Given the description of an element on the screen output the (x, y) to click on. 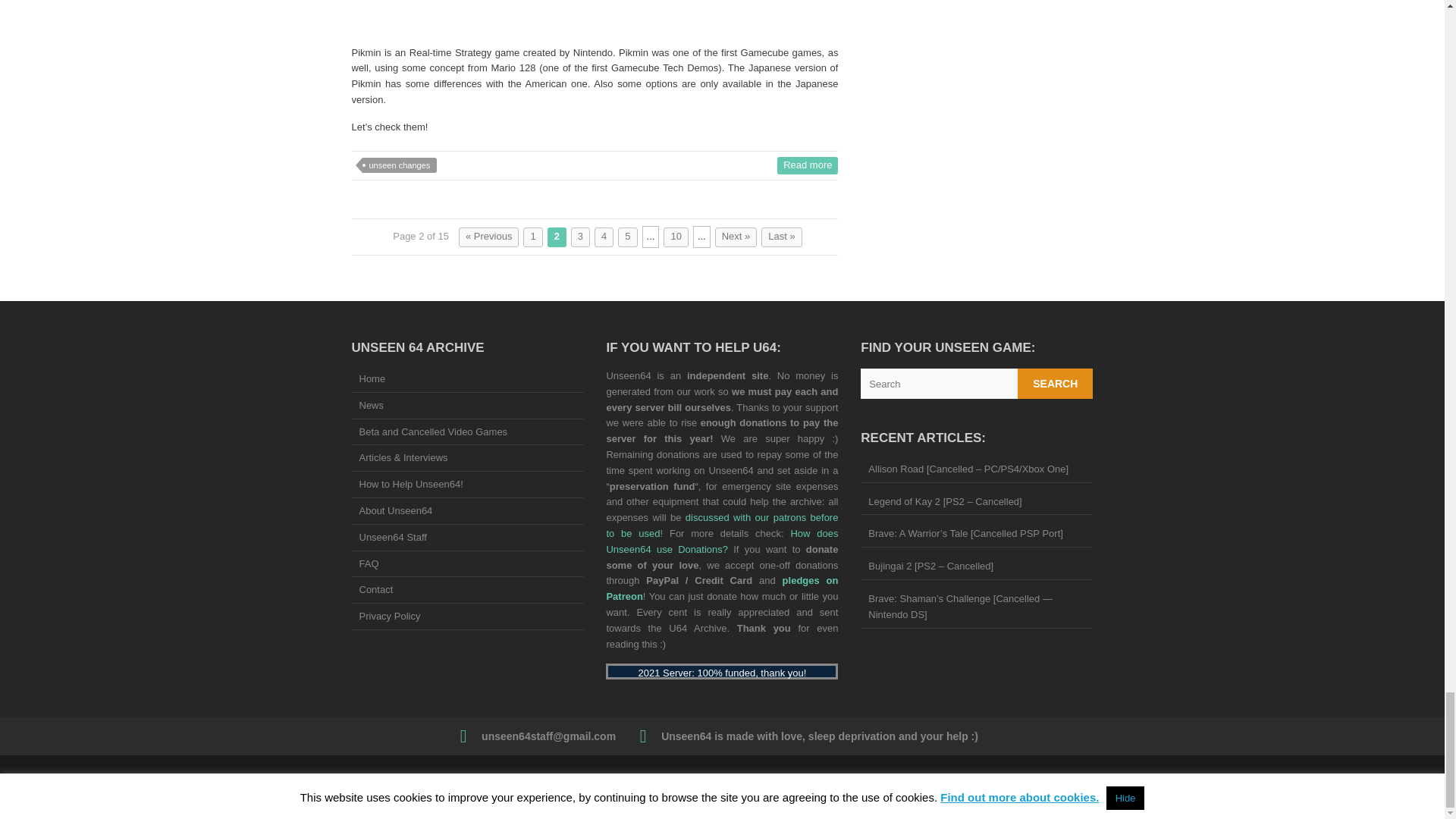
Search (1055, 383)
Search (1055, 383)
